Given the description of an element on the screen output the (x, y) to click on. 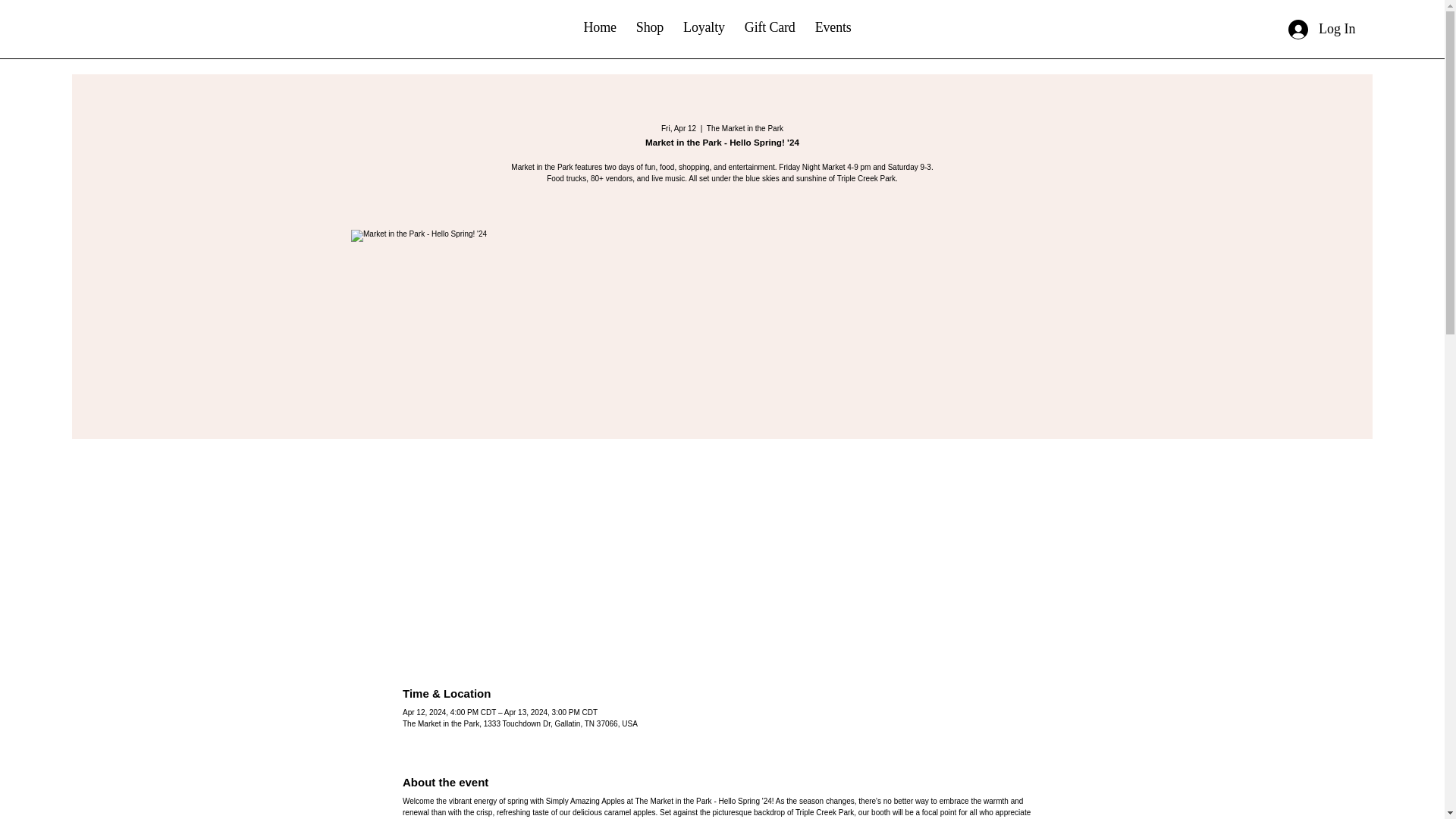
Gift Card (769, 27)
Home (600, 27)
Shop (649, 27)
Events (833, 27)
Log In (1322, 29)
Loyalty (703, 27)
